Given the description of an element on the screen output the (x, y) to click on. 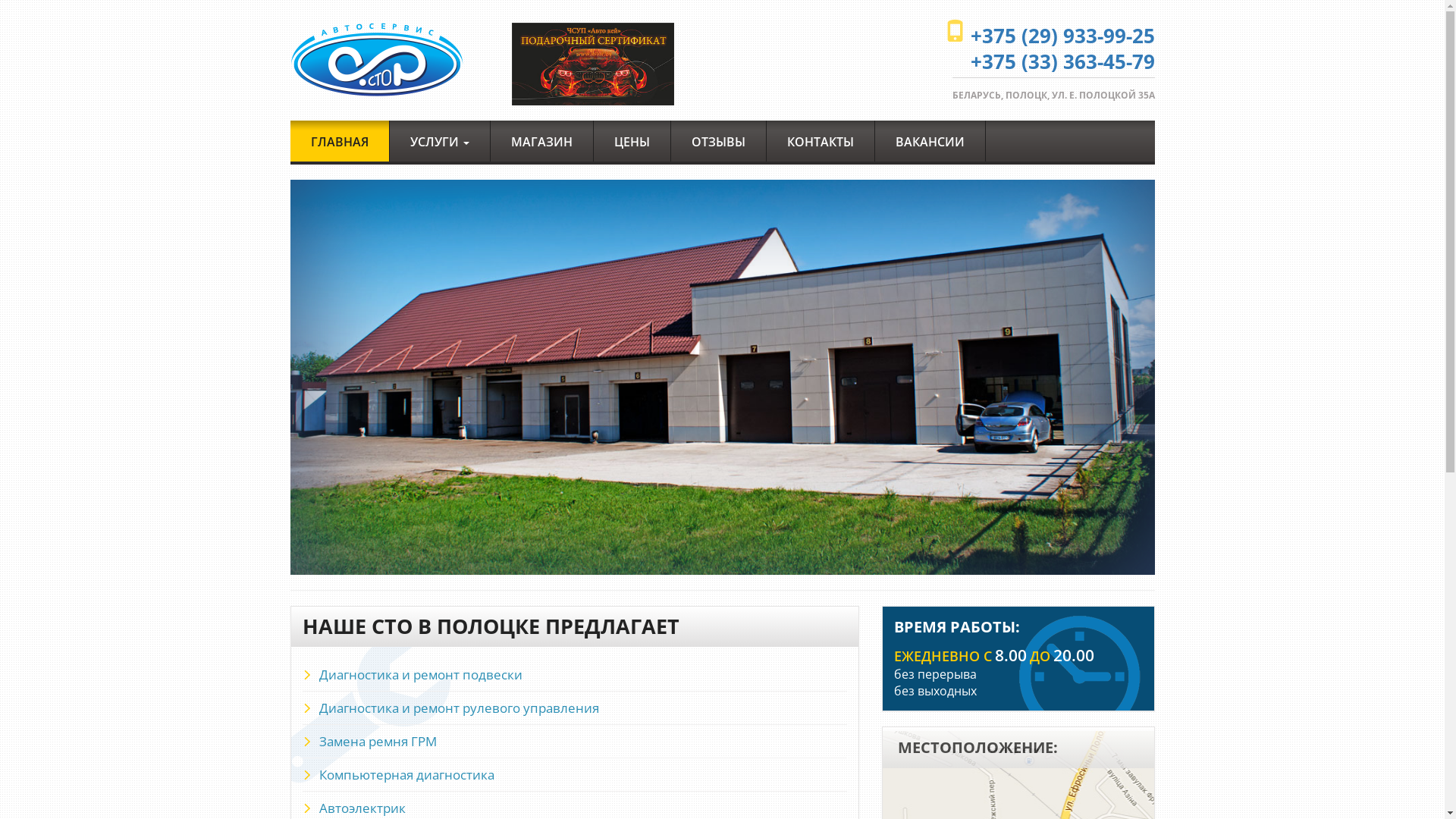
+375 (29) 933-99-25 Element type: text (1062, 35)
+375 (33) 363-45-79 Element type: text (1062, 61)
